Given the description of an element on the screen output the (x, y) to click on. 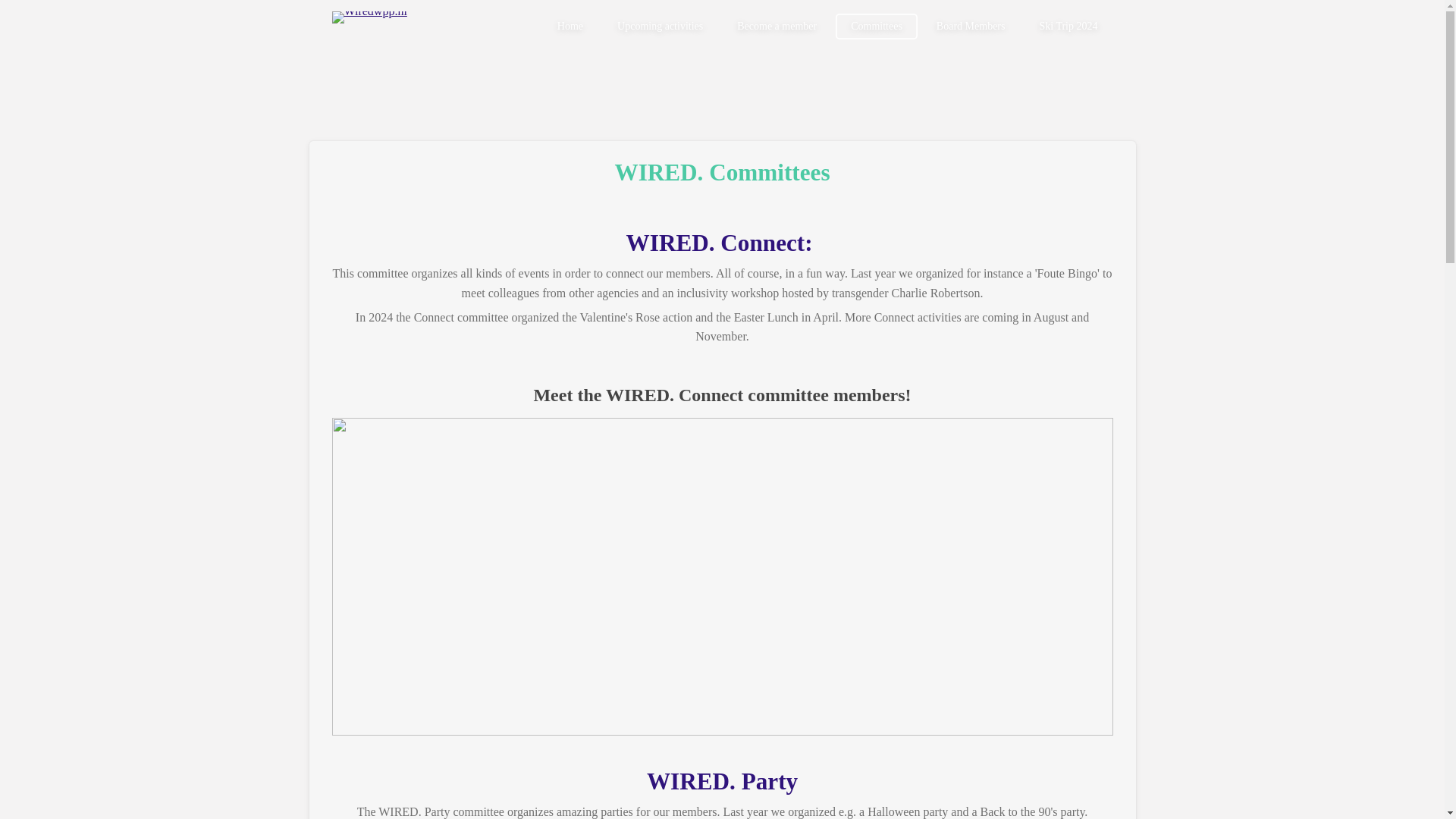
Board Members (970, 26)
Wiredwpp.nl (369, 25)
Ski Trip 2024 (1067, 26)
Home (569, 26)
Become a member (776, 26)
Upcoming activities (659, 26)
Committees (876, 26)
